Given the description of an element on the screen output the (x, y) to click on. 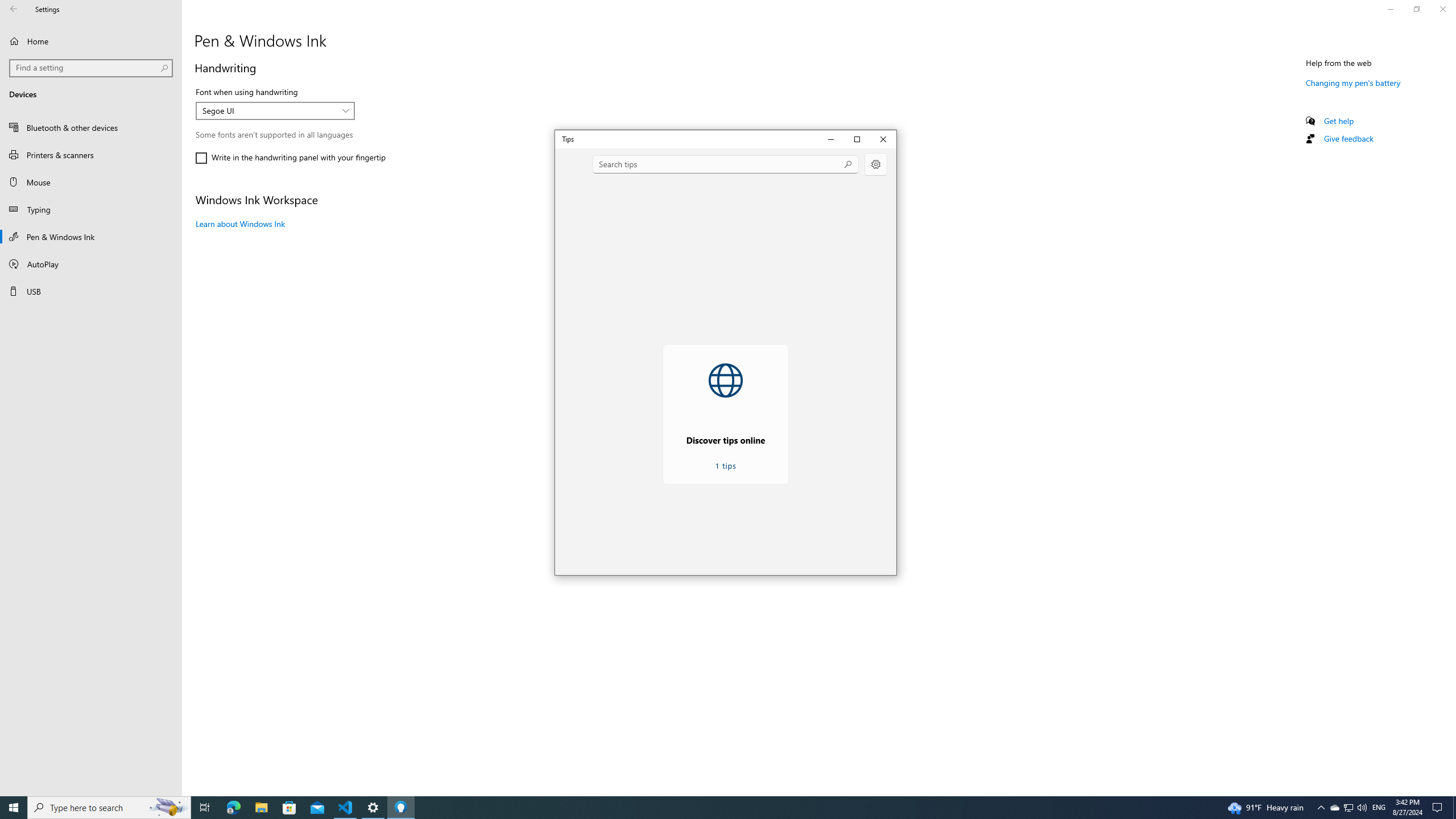
Tray Input Indicator - English (United States) (1378, 807)
Action Center, No new notifications (1439, 807)
Settings - 1 running window (1347, 807)
Start (373, 807)
Search highlights icon opens search home window (13, 807)
Visual Studio Code - 1 running window (1333, 807)
Tips - 1 running window (167, 807)
Microsoft Edge (345, 807)
Discover tips online (400, 807)
Notification Chevron (233, 807)
File Explorer (618, 285)
Maximize Tips (1320, 807)
